Given the description of an element on the screen output the (x, y) to click on. 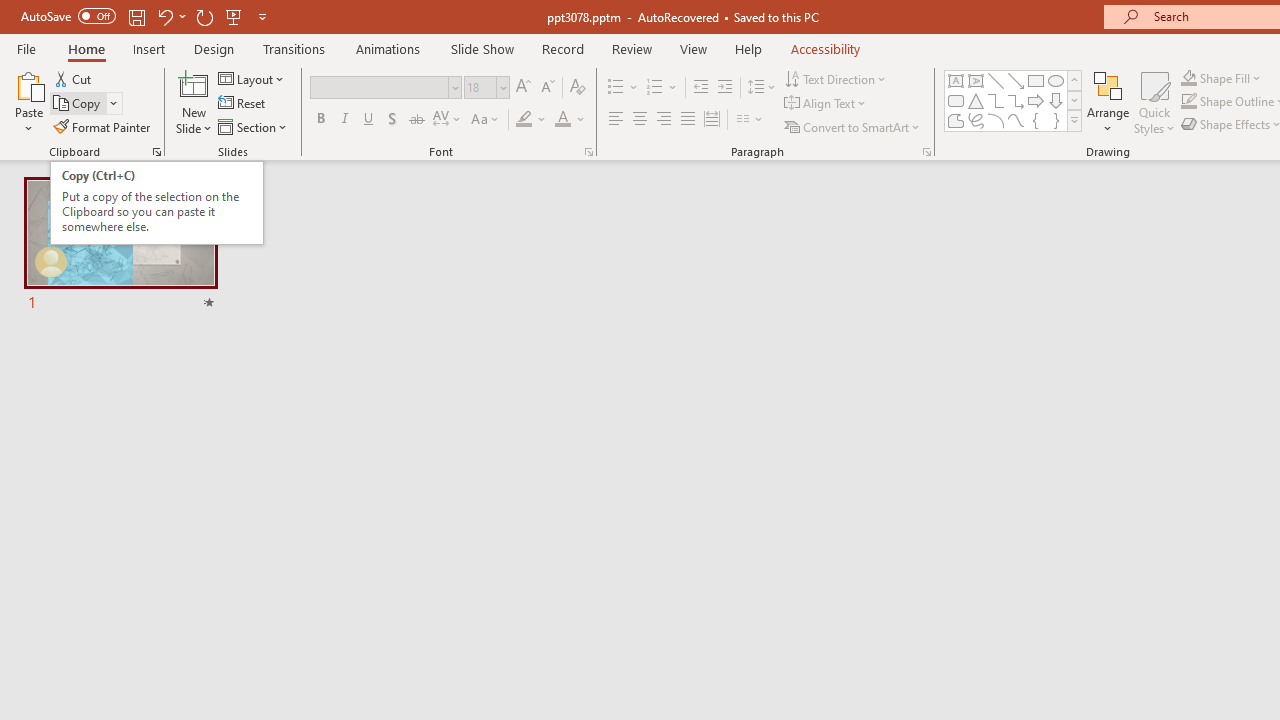
Italic (344, 119)
Isosceles Triangle (975, 100)
Text Direction (836, 78)
Align Text (826, 103)
Bullets (616, 87)
Rectangle (1035, 80)
Freeform: Shape (955, 120)
Cut (73, 78)
Text Highlight Color Yellow (524, 119)
Font Size (486, 87)
Clear Formatting (577, 87)
Rectangle: Rounded Corners (955, 100)
Oval (1055, 80)
Design (214, 48)
